Given the description of an element on the screen output the (x, y) to click on. 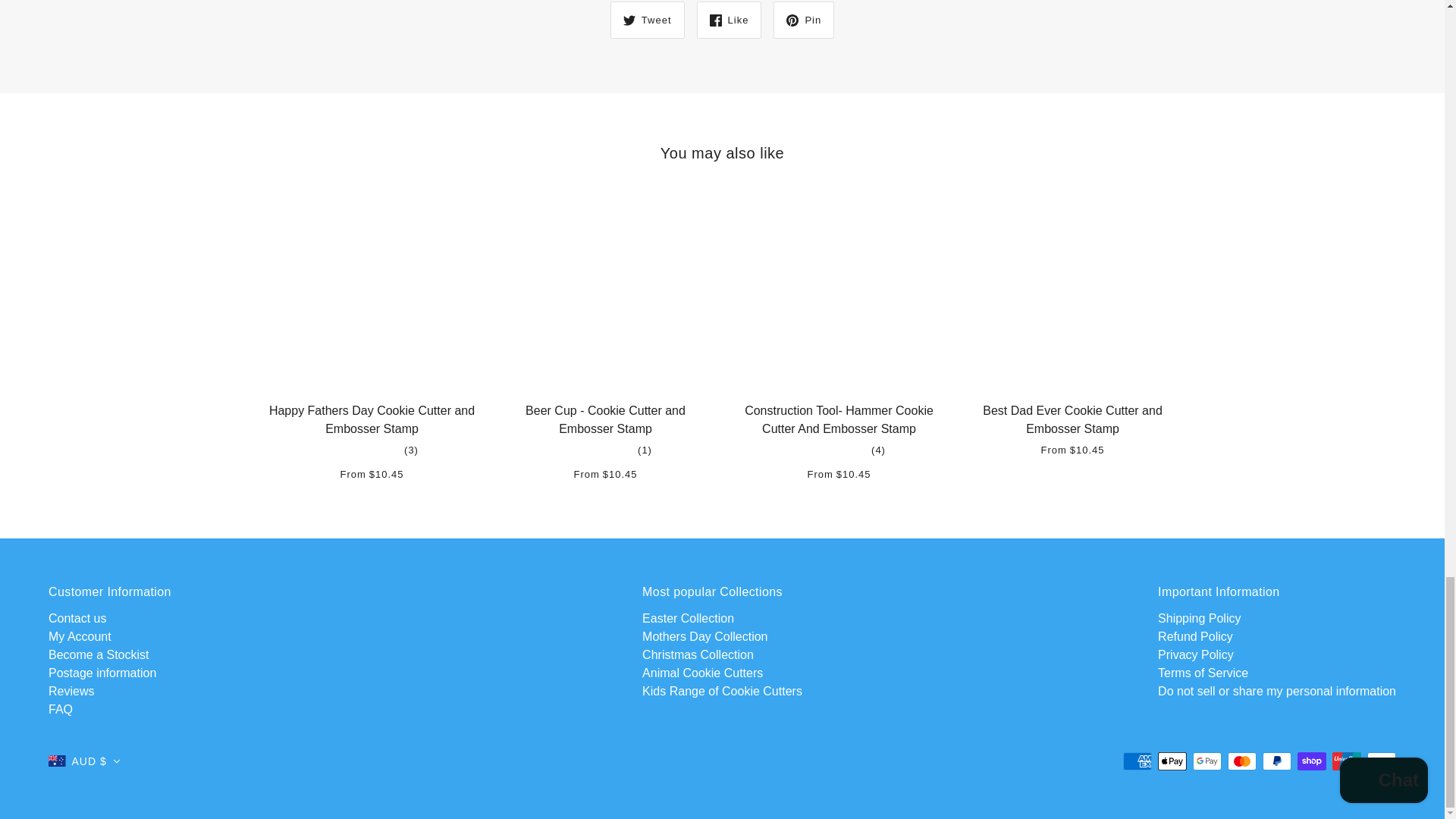
Apple Pay (1171, 761)
Union Pay (1346, 761)
American Express (1136, 761)
Pin (803, 19)
Christmas Collection (698, 654)
Animal Cookie Cutters (702, 672)
Visa (1381, 761)
Reviews (71, 690)
My Account (80, 635)
Kids Range of Cookie Cutters (722, 690)
